Given the description of an element on the screen output the (x, y) to click on. 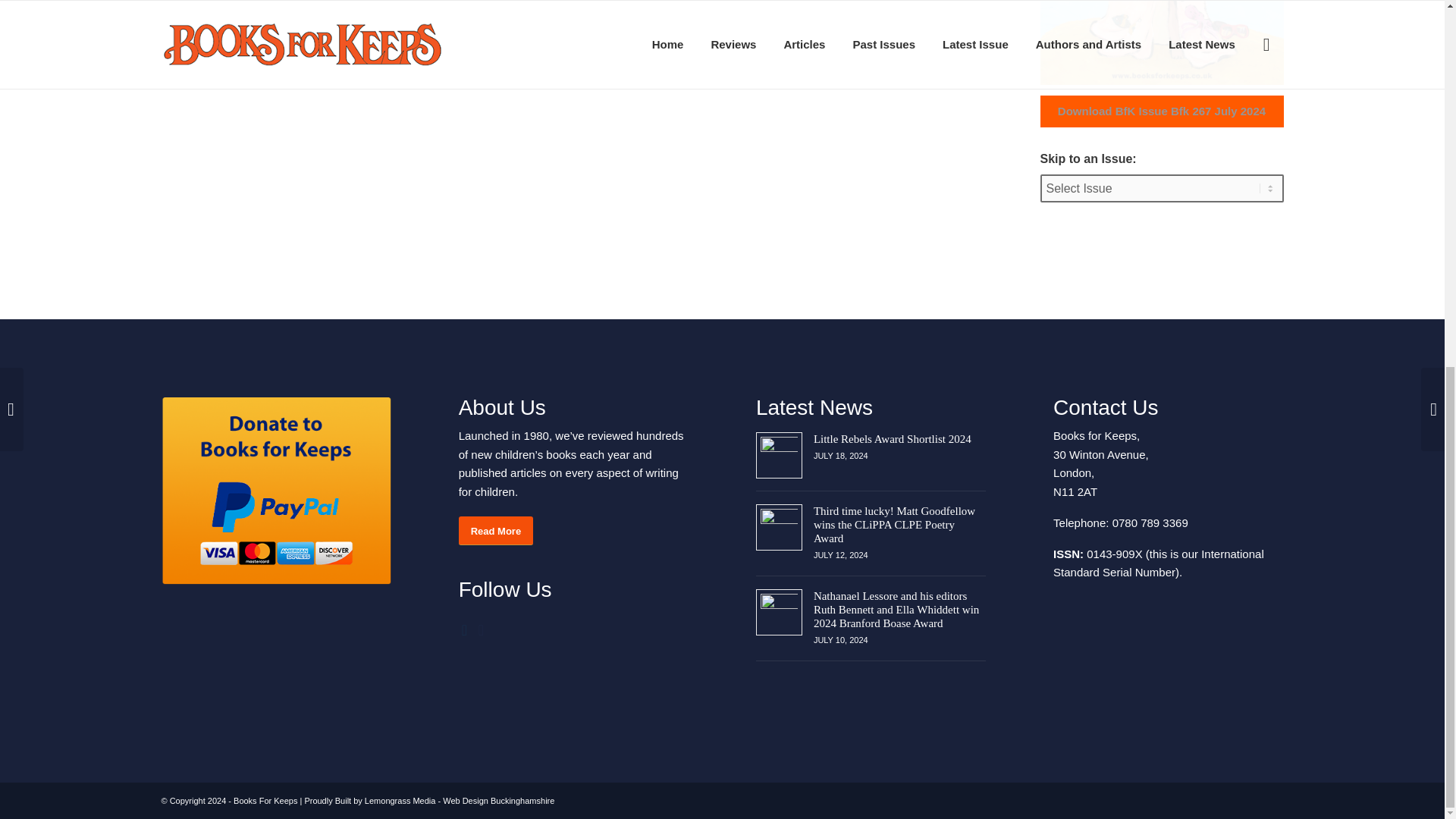
Read More (495, 531)
Download BfK Issue Bfk 267 July 2024 (1162, 111)
Link to: Little Rebels Award Shortlist 2024 (778, 455)
PayPal - The safer, easier way to pay online! (275, 490)
Link to: Little Rebels Award Shortlist 2024 (892, 438)
Little Rebels Award Shortlist 2024 (892, 438)
